Given the description of an element on the screen output the (x, y) to click on. 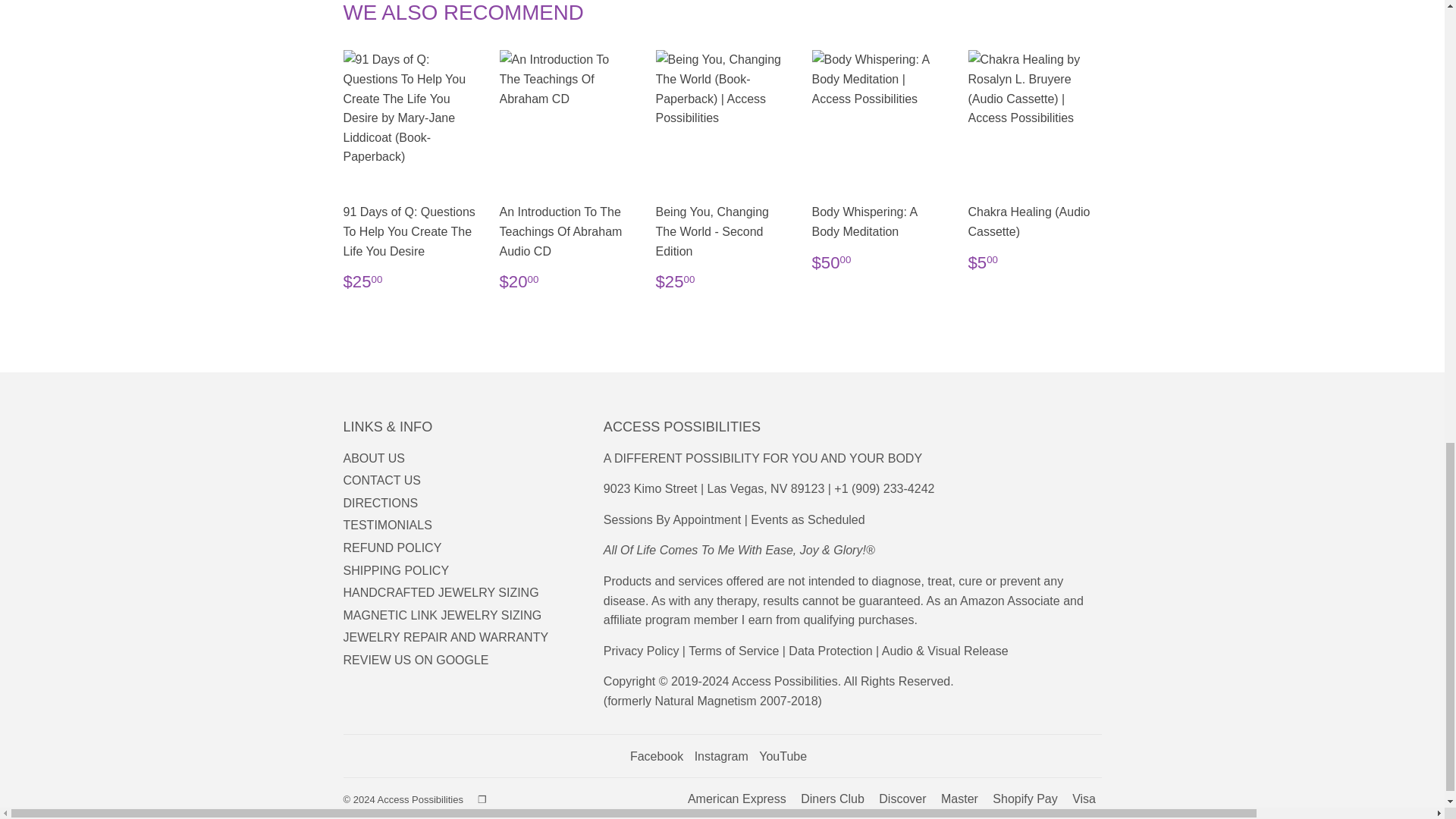
Access Possibilities on YouTube (782, 756)
Access Possibilities on Facebook (656, 756)
Access Possibilities on Instagram (721, 756)
